Given the description of an element on the screen output the (x, y) to click on. 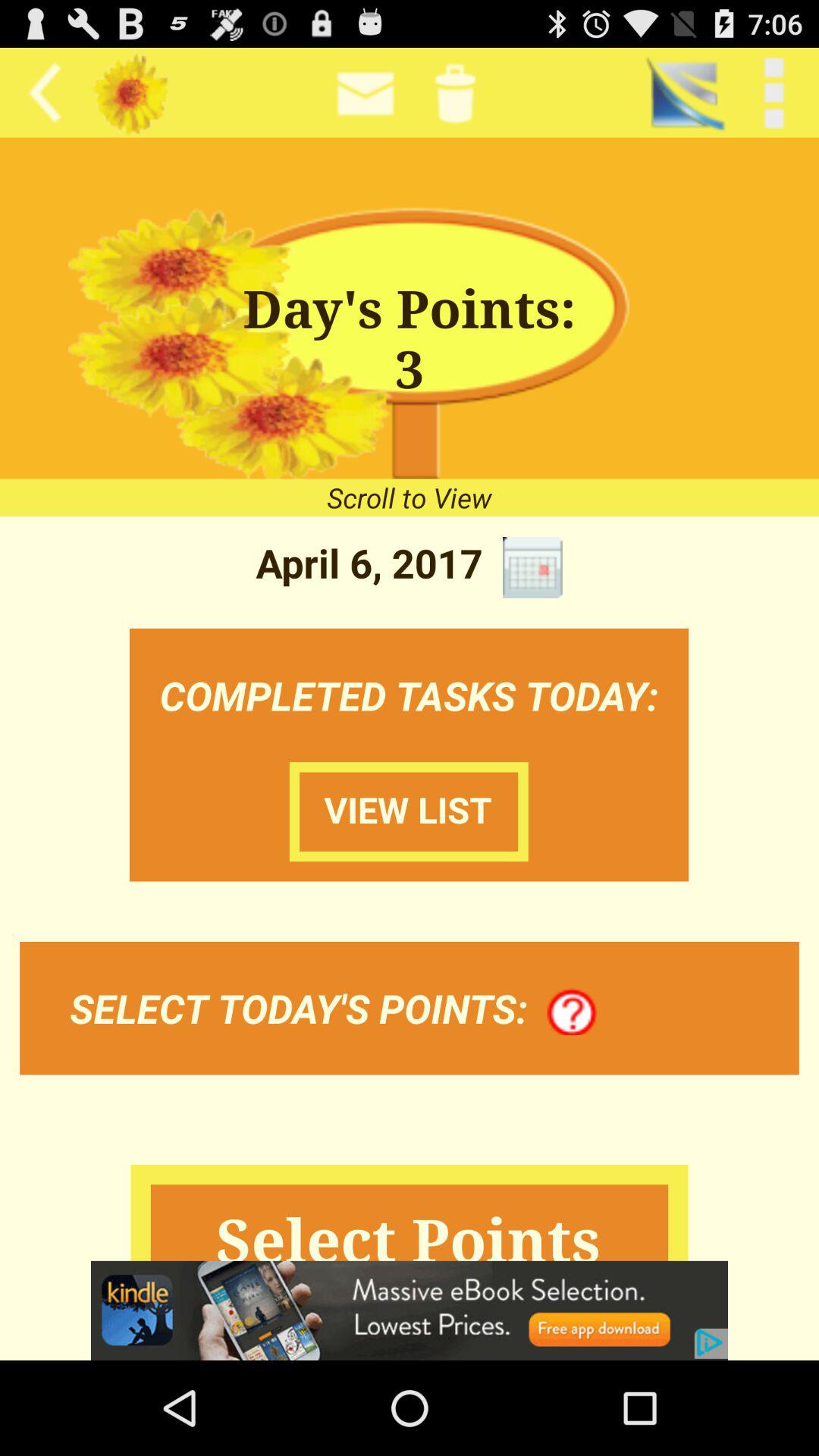
launch the app next to < back item (684, 92)
